Given the description of an element on the screen output the (x, y) to click on. 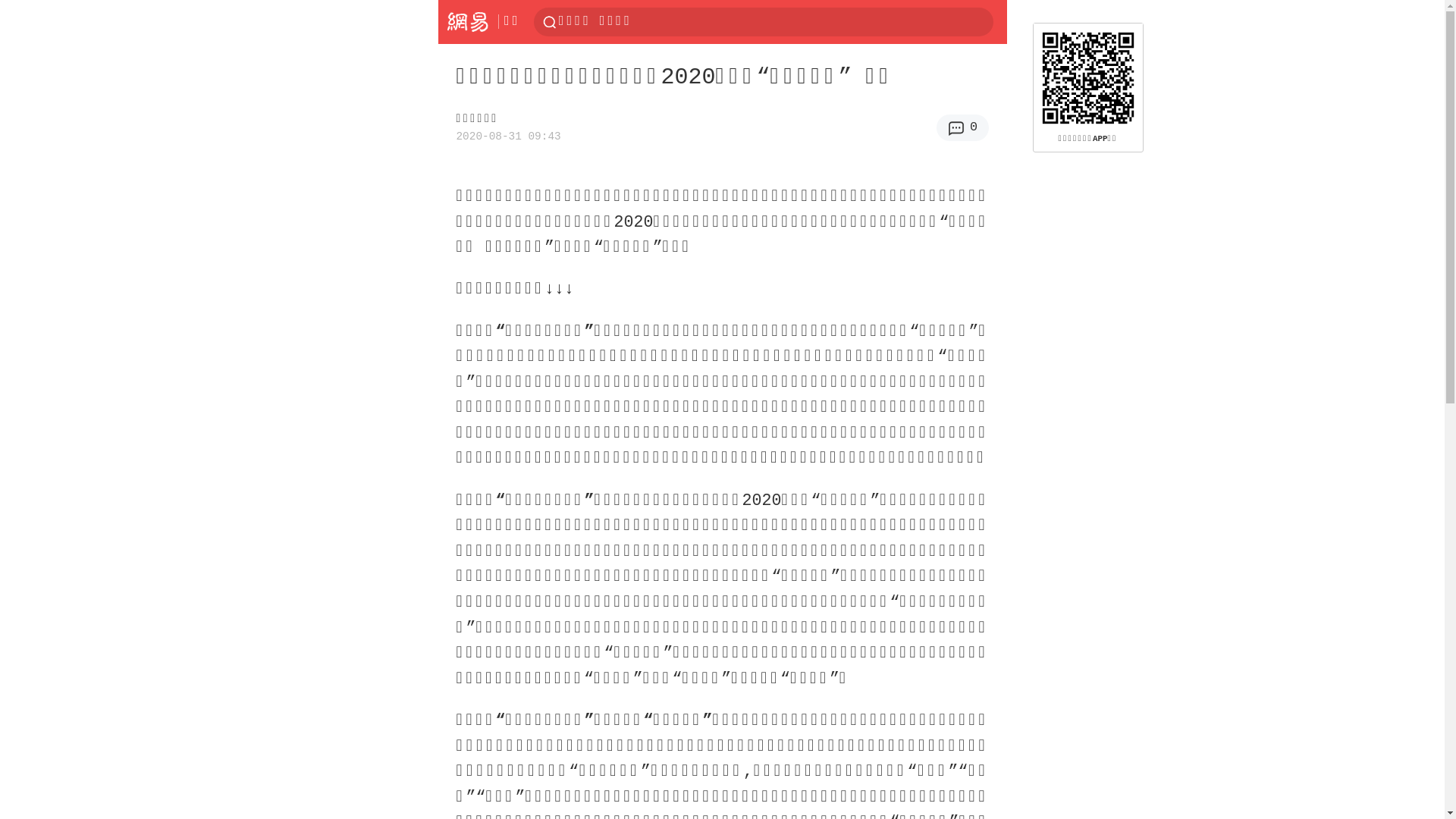
0 Element type: text (962, 127)
